Given the description of an element on the screen output the (x, y) to click on. 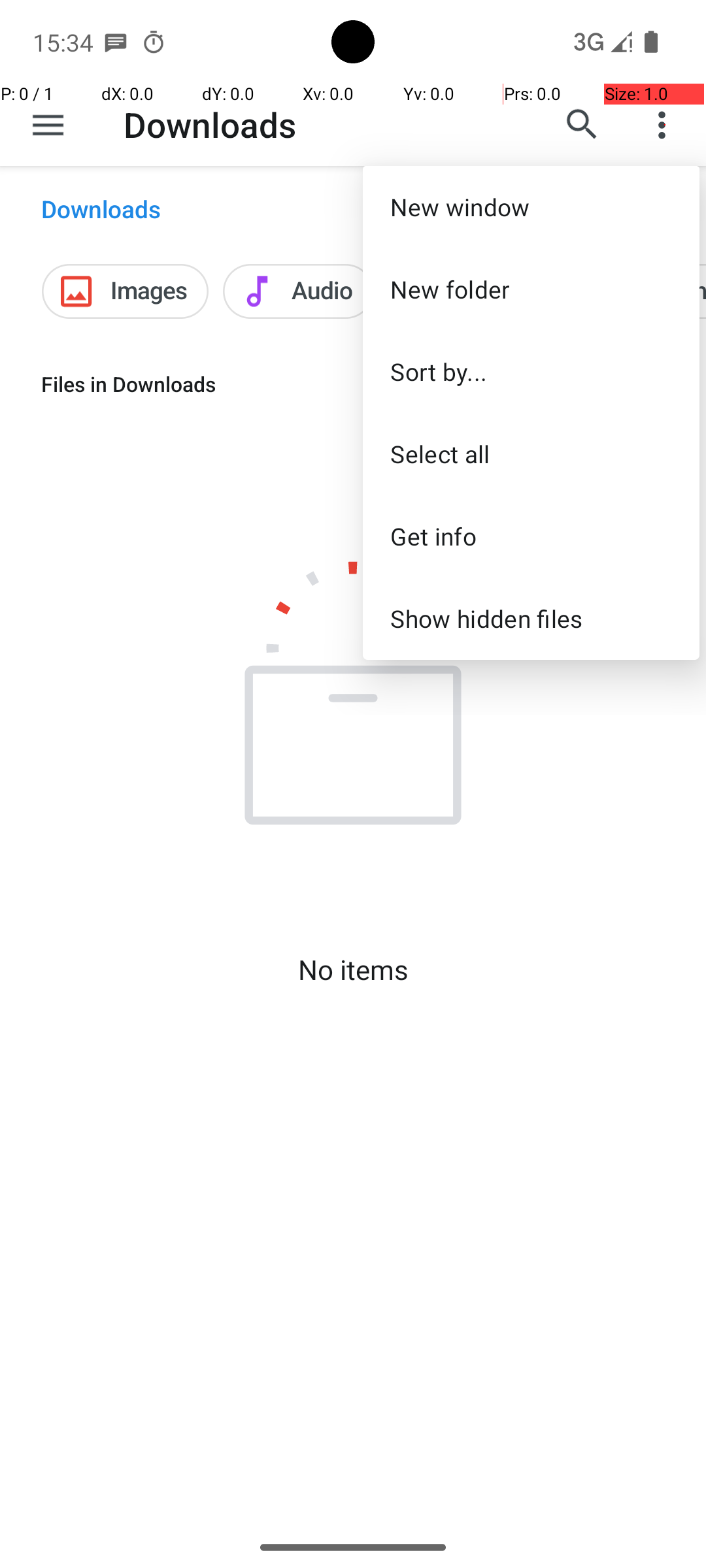
New window Element type: android.widget.TextView (531, 206)
New folder Element type: android.widget.TextView (531, 288)
Get info Element type: android.widget.TextView (531, 535)
